Given the description of an element on the screen output the (x, y) to click on. 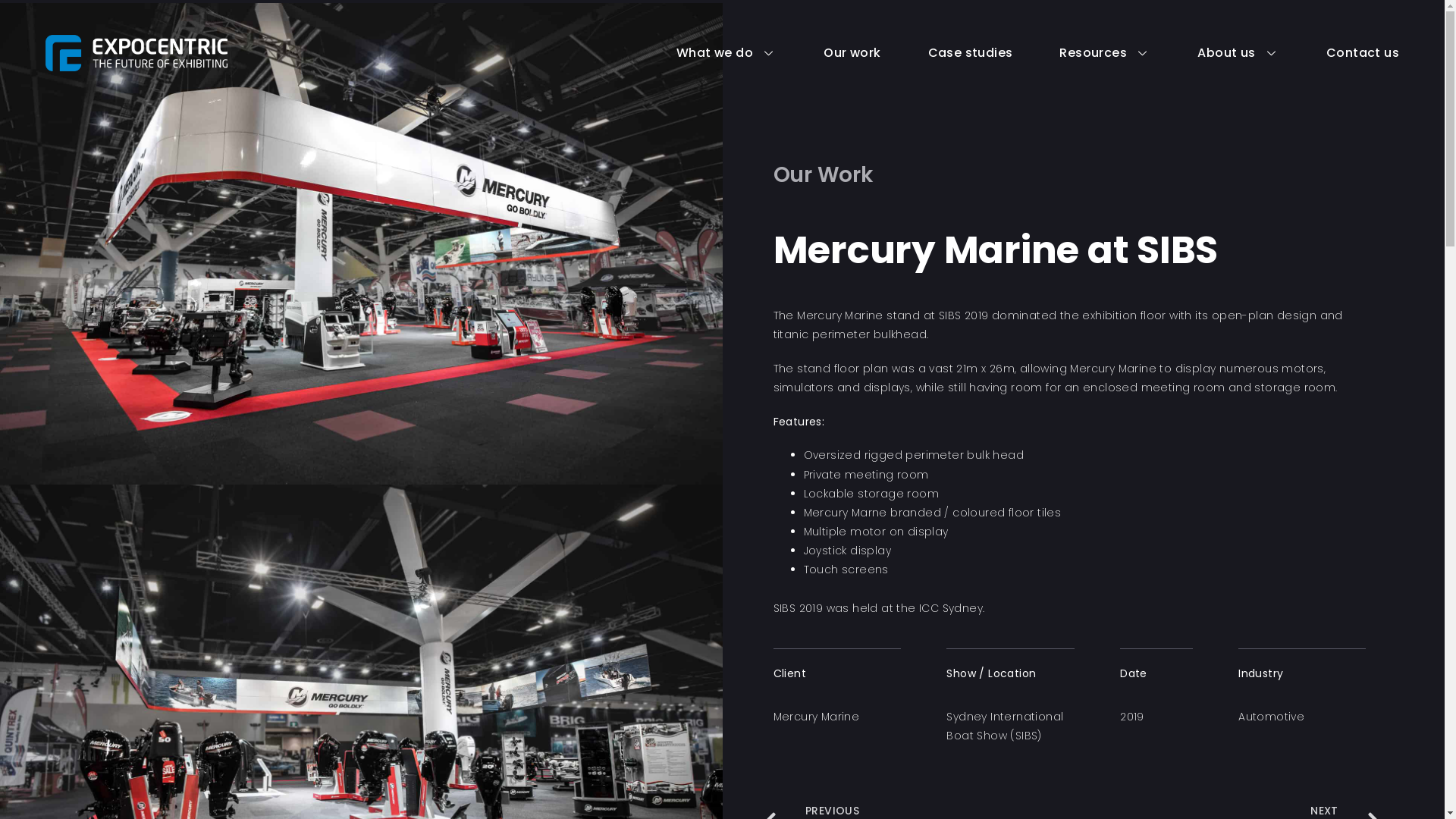
Our work Element type: text (828, 52)
Resources Element type: text (1081, 52)
Contact us Element type: text (1339, 52)
What we do Element type: text (702, 52)
About us Element type: text (1214, 52)
Case studies Element type: text (947, 52)
